Given the description of an element on the screen output the (x, y) to click on. 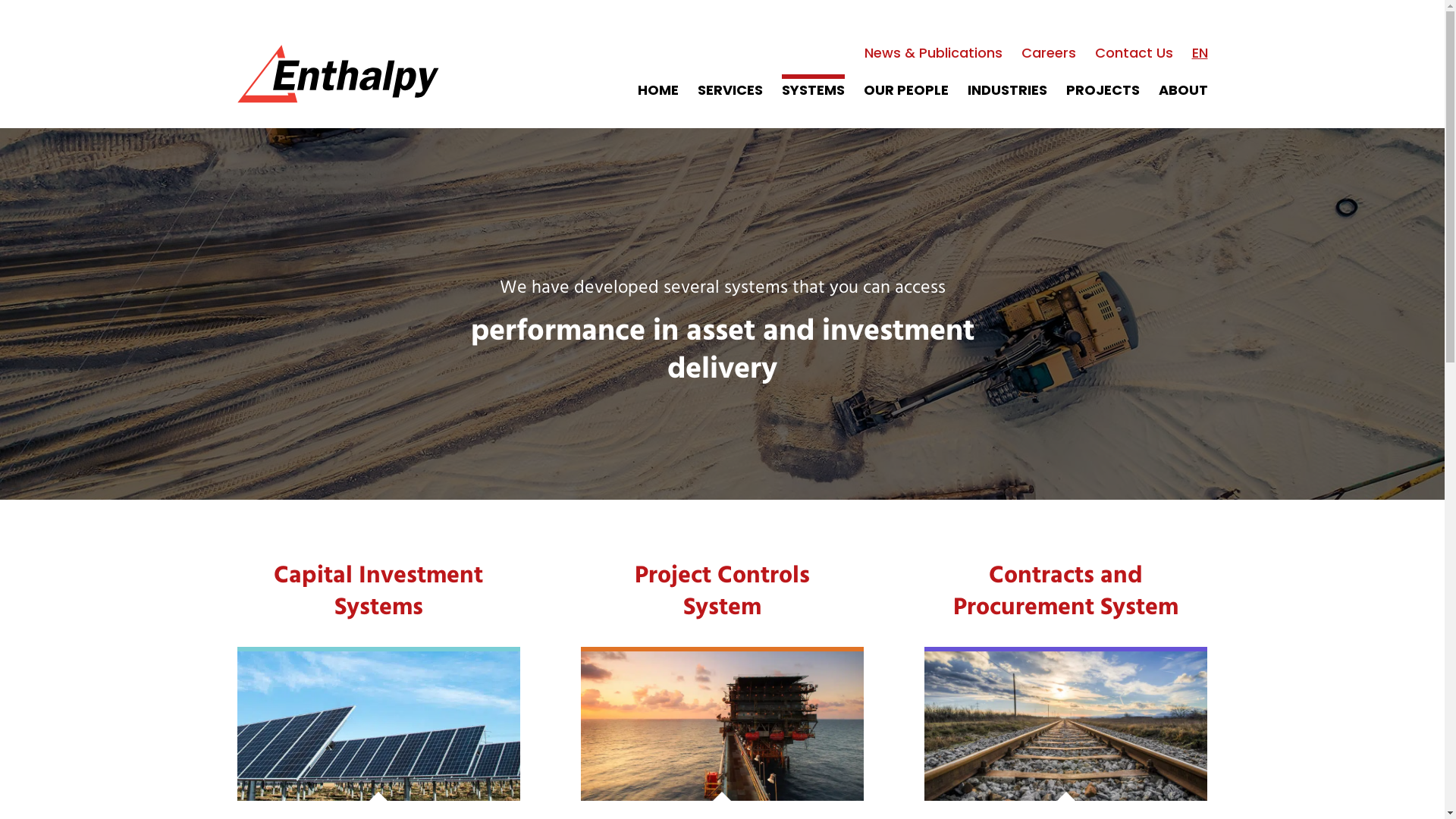
ABOUT Element type: text (1183, 90)
INDUSTRIES Element type: text (1007, 90)
News & Publications Element type: text (933, 52)
Contact Us Element type: text (1134, 52)
OUR PEOPLE Element type: text (904, 90)
PROJECTS Element type: text (1102, 90)
EN Element type: text (1200, 52)
Careers Element type: text (1047, 52)
SERVICES Element type: text (729, 90)
HOME Element type: text (657, 90)
SYSTEMS Element type: text (812, 90)
